Given the description of an element on the screen output the (x, y) to click on. 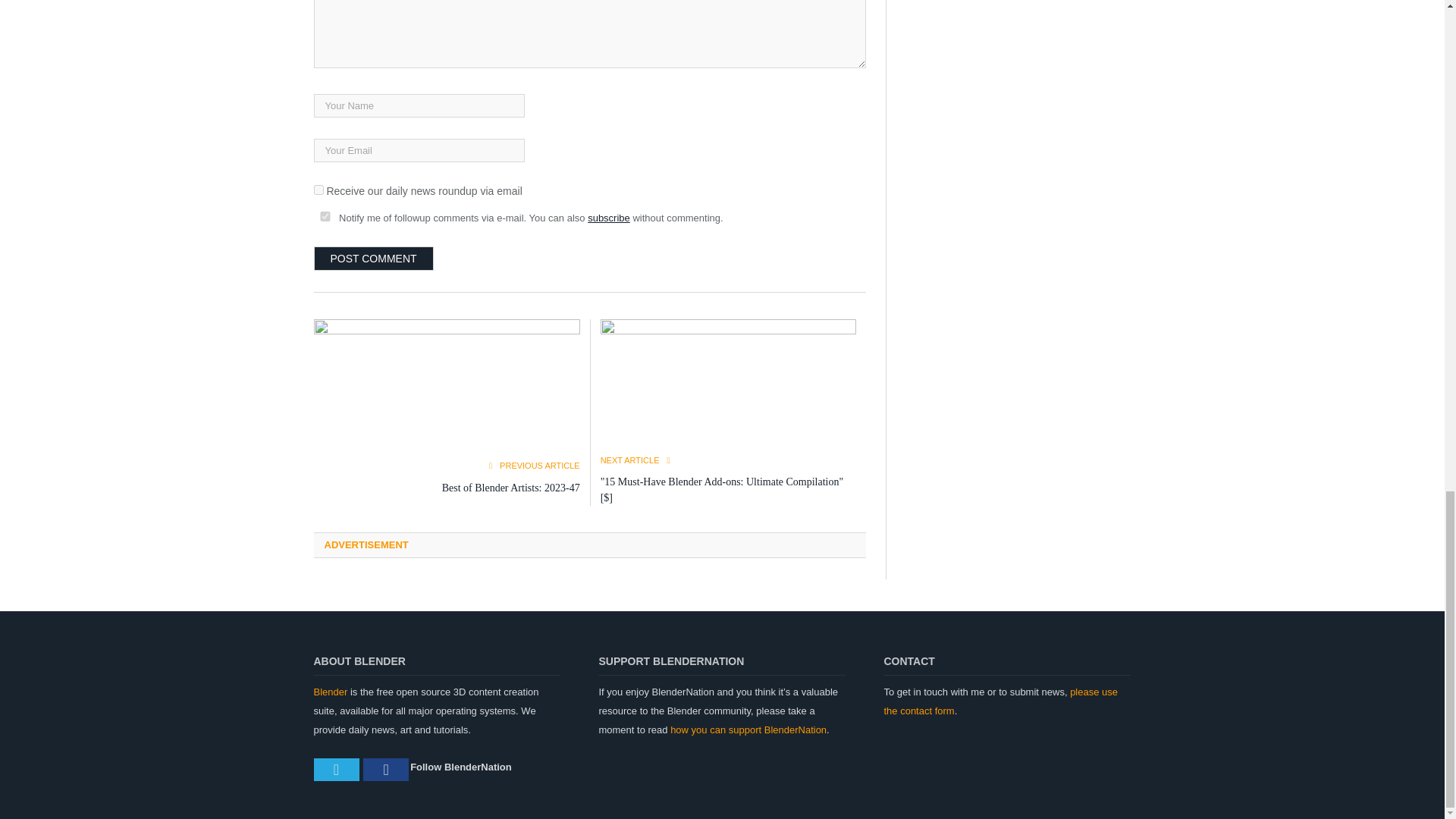
Blender.org Cyberattack - Final Report (727, 386)
Follow BlenderNation on Facebook (385, 769)
1 (318, 189)
Post Comment (373, 258)
Blender.org Cyberattack - Final Report (446, 389)
Follow BlenderNation on Twitter (336, 769)
yes (325, 216)
